Given the description of an element on the screen output the (x, y) to click on. 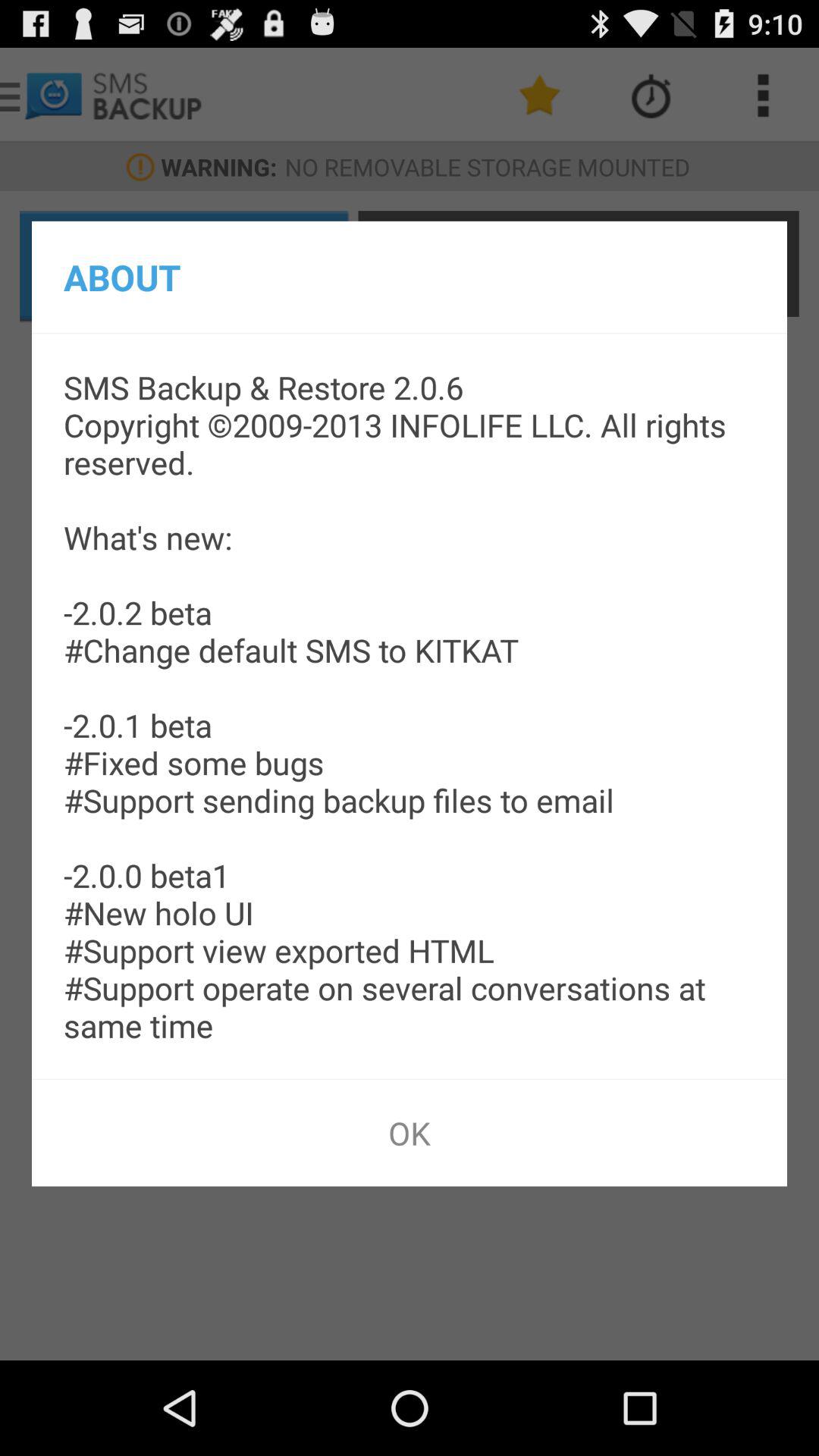
tap sms backup restore icon (409, 705)
